Given the description of an element on the screen output the (x, y) to click on. 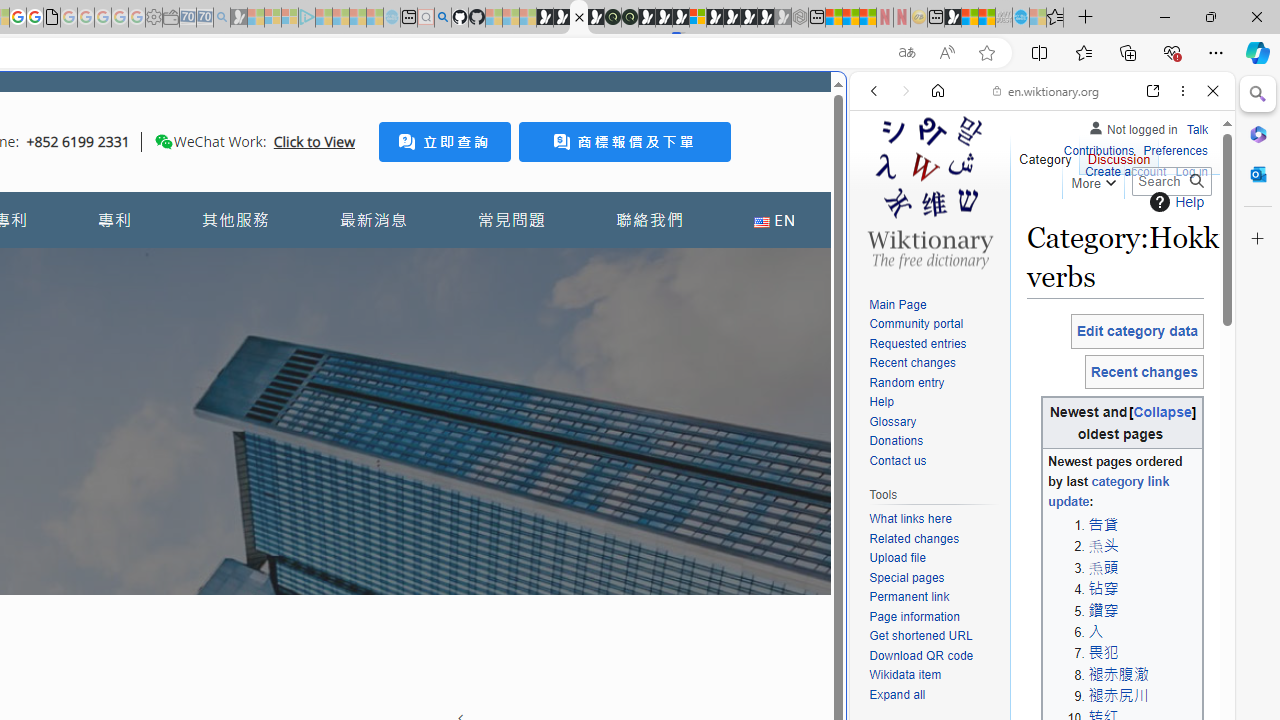
en.wiktionary.org (1046, 90)
Create account (1125, 172)
Permanent link (909, 596)
